Given the description of an element on the screen output the (x, y) to click on. 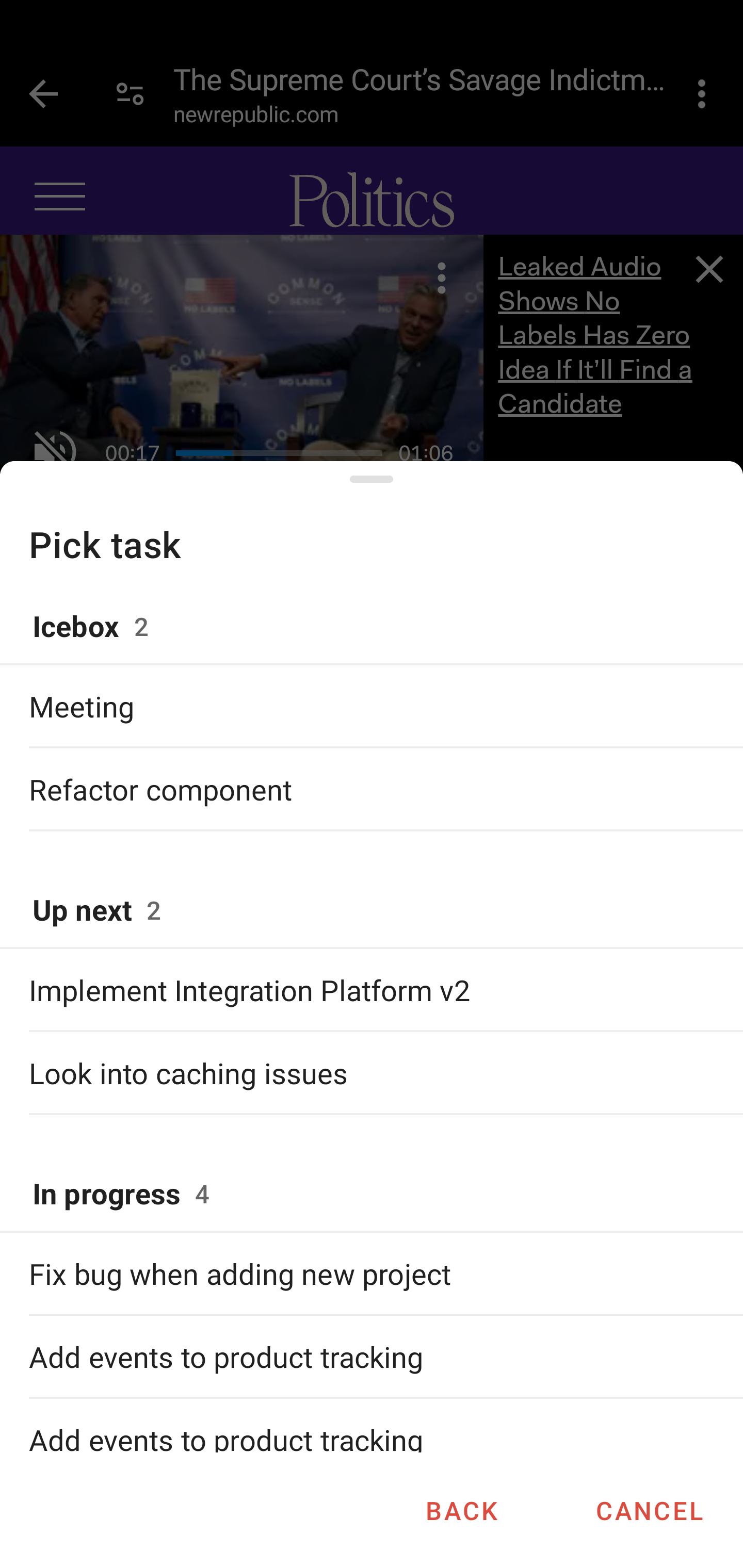
Icebox 2 (371, 627)
Meeting (371, 705)
Refactor component (371, 788)
Up next 2 (371, 910)
Implement Integration Platform v2 (371, 989)
Look into caching issues (371, 1072)
In progress 4 (371, 1194)
Fix bug when adding new project (371, 1272)
Add events to product tracking (371, 1356)
Add events to product tracking (371, 1439)
BACK (460, 1510)
CANCEL (648, 1510)
